Given the description of an element on the screen output the (x, y) to click on. 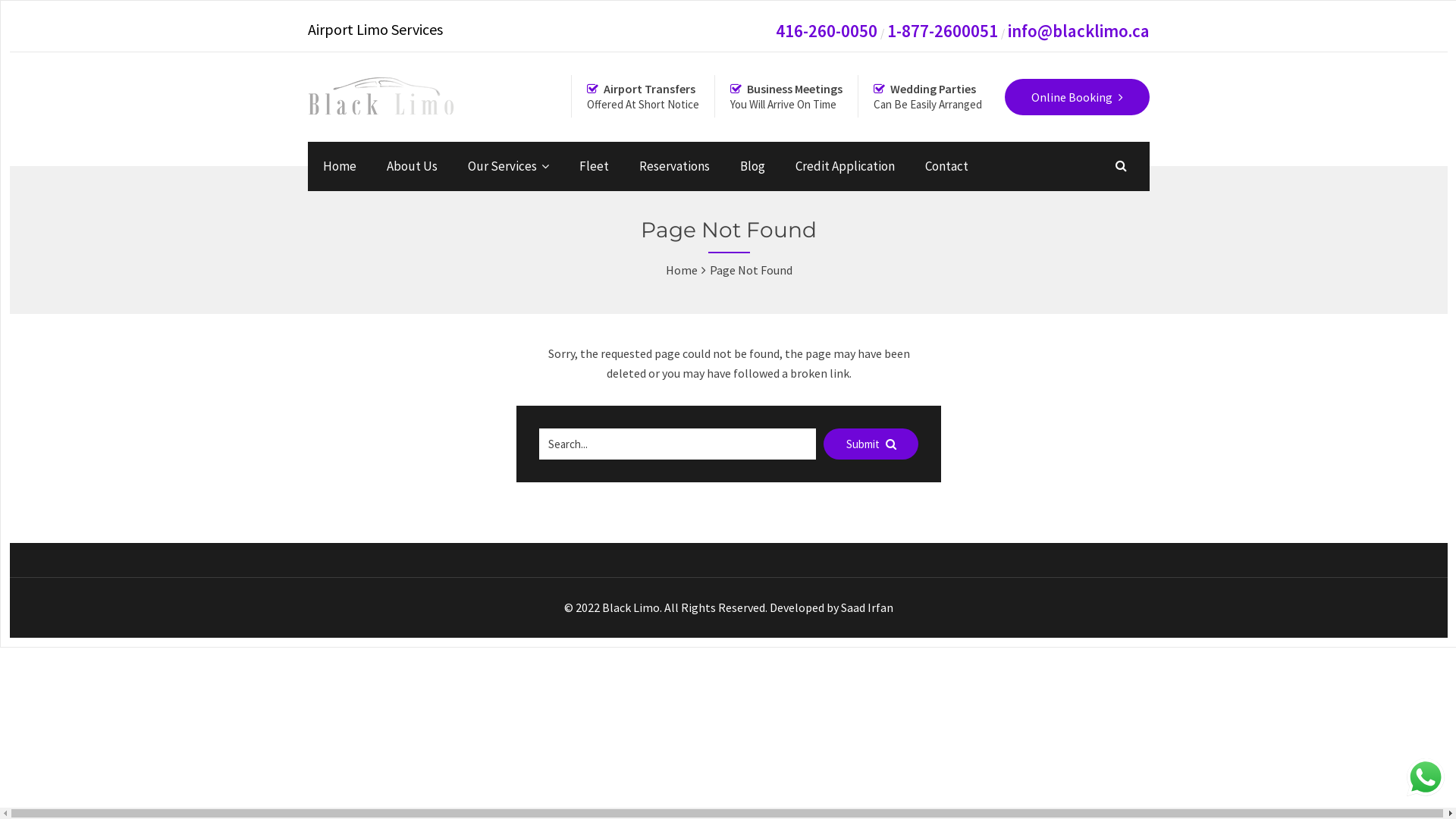
416-260-0050 Element type: text (826, 30)
Our Services Element type: text (508, 166)
1-877-2600051 Element type: text (942, 30)
Home Element type: text (681, 269)
info@blacklimo.ca Element type: text (1078, 30)
Contact Element type: text (946, 166)
Credit Application Element type: text (845, 166)
Submit Element type: text (870, 443)
About Us Element type: text (411, 166)
Reservations Element type: text (674, 166)
Saad Irfan Element type: text (866, 607)
Online Booking Element type: text (1076, 96)
Blog Element type: text (752, 166)
Fleet Element type: text (594, 166)
Home Element type: text (339, 166)
WhatsApp us Element type: hover (1425, 777)
